Given the description of an element on the screen output the (x, y) to click on. 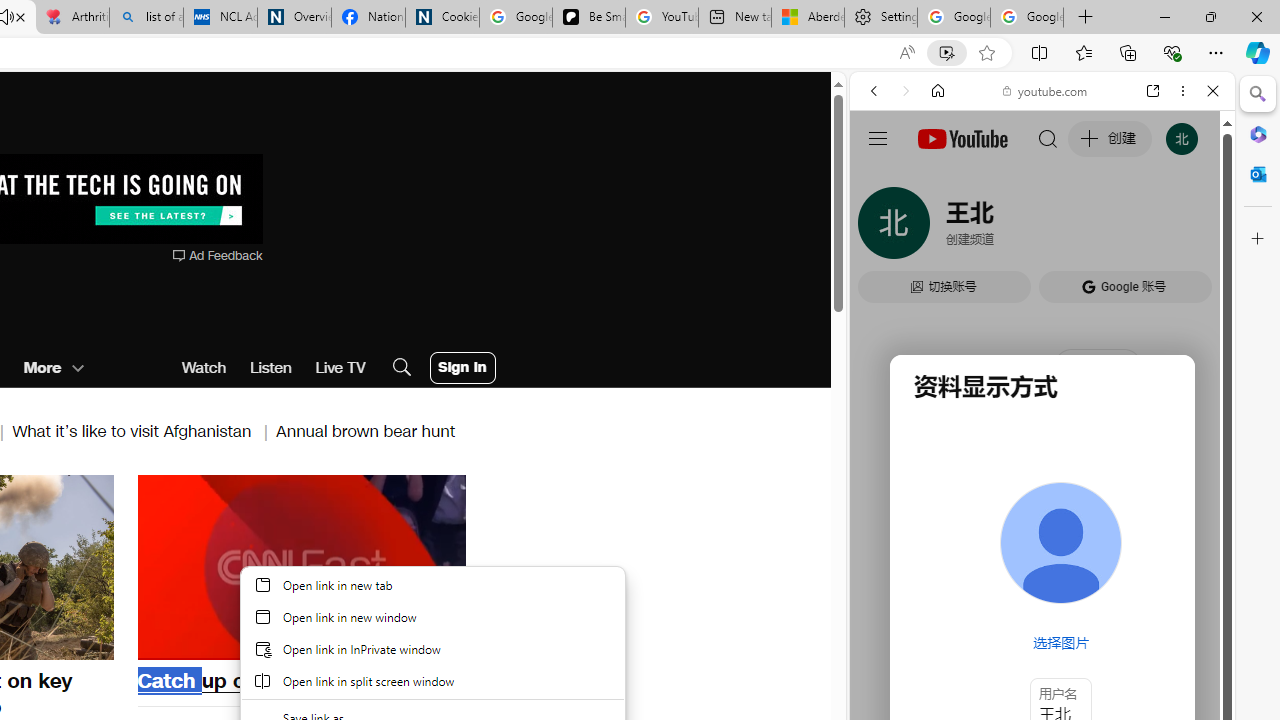
Music (1042, 543)
Pause (301, 564)
Search Icon (401, 367)
Listen (270, 367)
#you (1042, 445)
Search Filter, IMAGES (939, 228)
Fullscreen (438, 642)
